Given the description of an element on the screen output the (x, y) to click on. 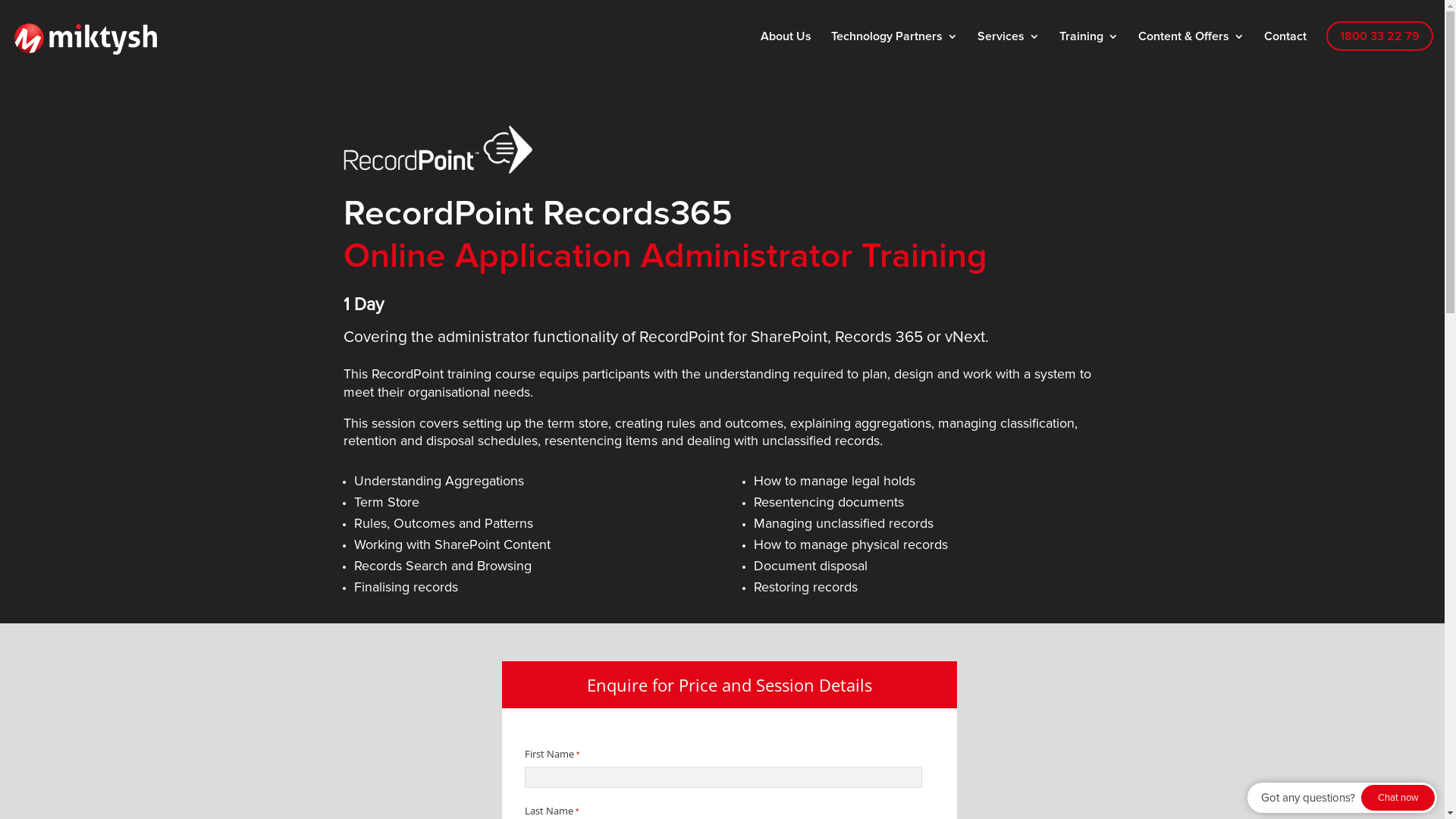
Training Element type: text (1088, 46)
About Us Element type: text (785, 46)
Contact Element type: text (1285, 46)
Services Element type: text (1008, 46)
Content & Offers Element type: text (1191, 46)
1800 33 22 79 Element type: text (1379, 35)
Technology Partners Element type: text (894, 46)
